Given the description of an element on the screen output the (x, y) to click on. 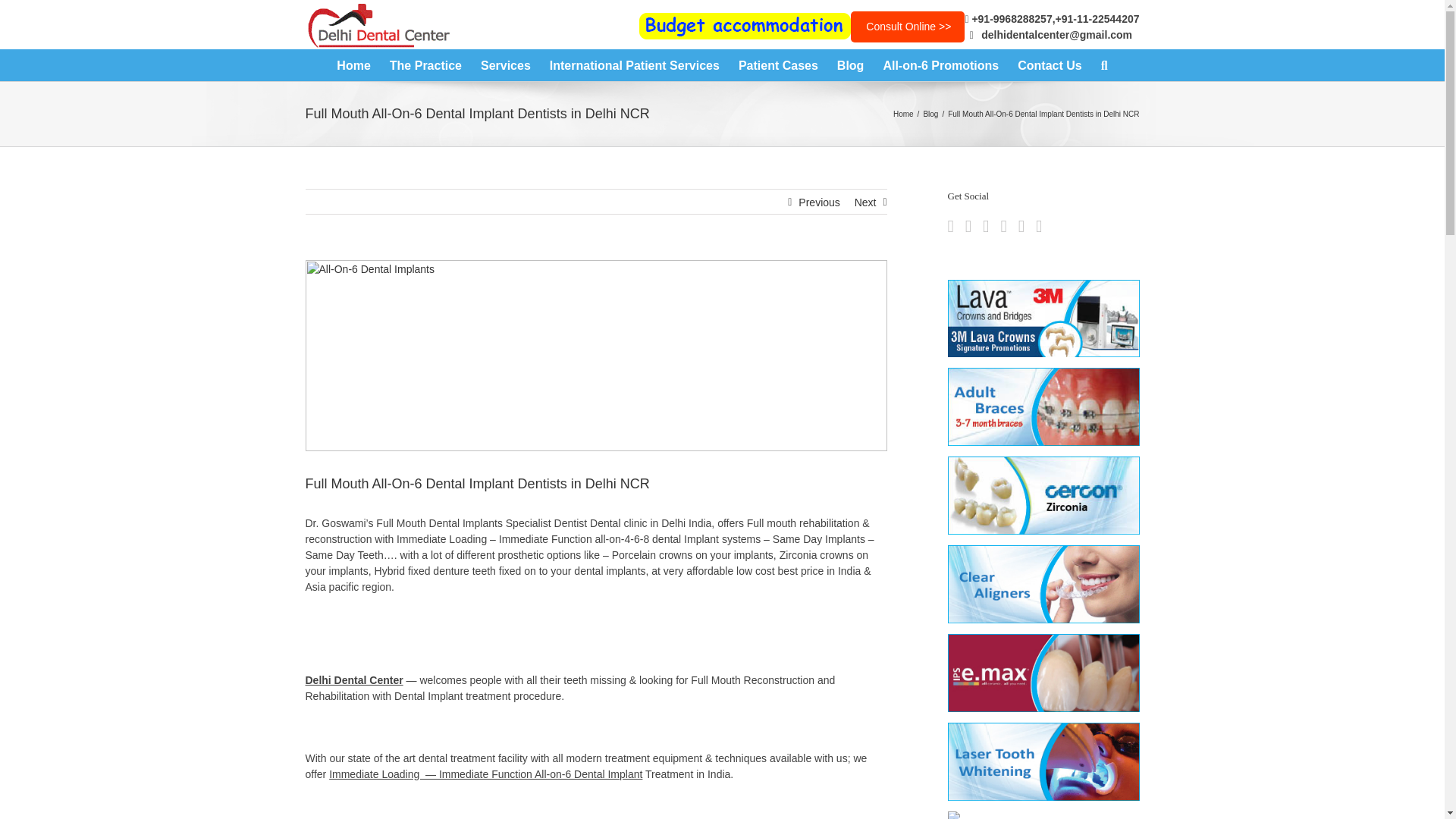
International Patient Services (634, 64)
Services (505, 64)
The Practice (425, 64)
Blog (850, 64)
All-on-6 Promotions (940, 64)
Home (352, 64)
Patient Cases (778, 64)
Contact Us (1049, 64)
